Given the description of an element on the screen output the (x, y) to click on. 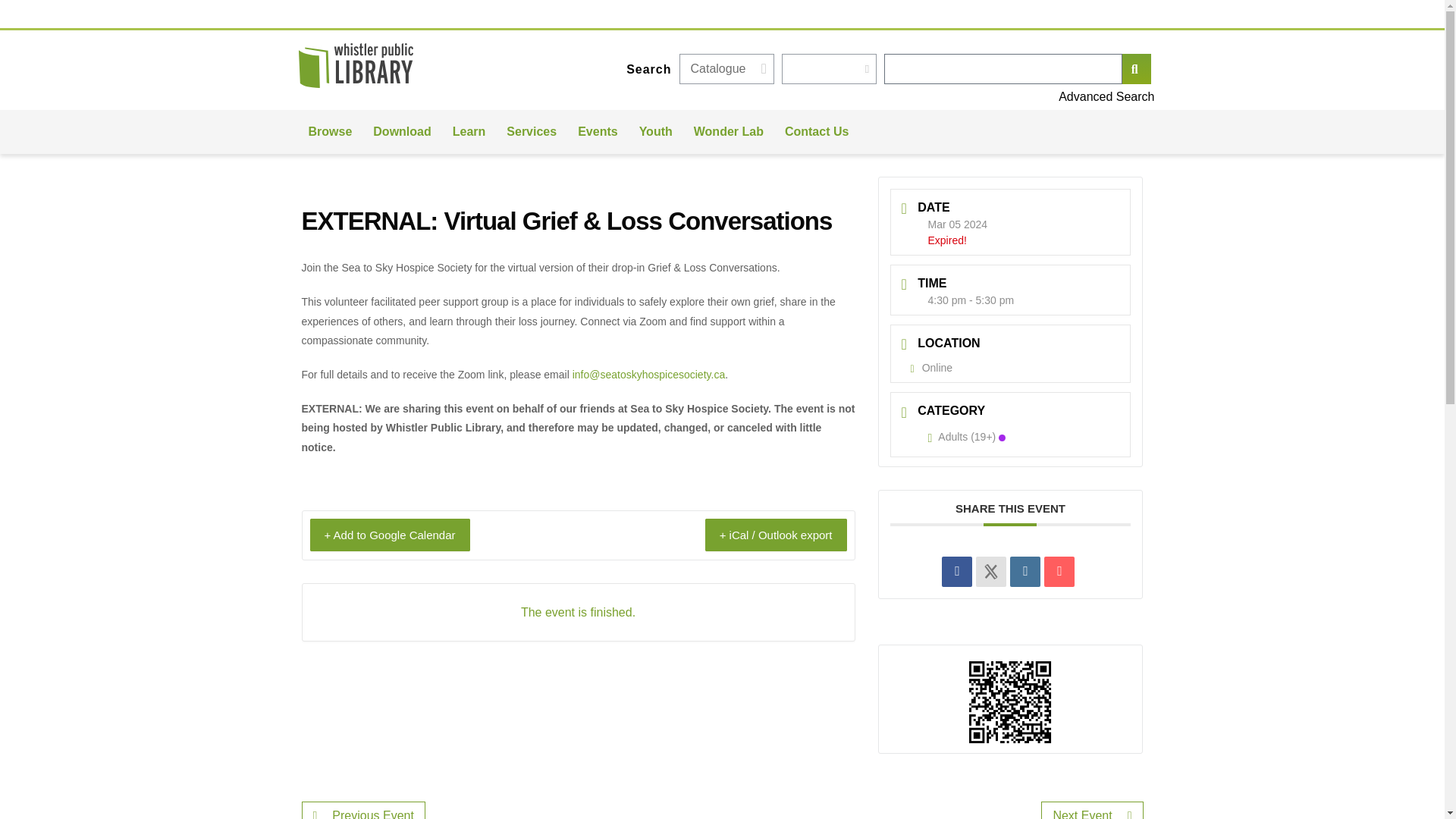
Linkedin (1025, 571)
Youth (655, 131)
Advanced Search (916, 96)
Download (401, 131)
X Social Network (990, 571)
Browse (329, 131)
Services (531, 131)
Learn (469, 131)
Email (1058, 571)
Share on Facebook (957, 571)
